Given the description of an element on the screen output the (x, y) to click on. 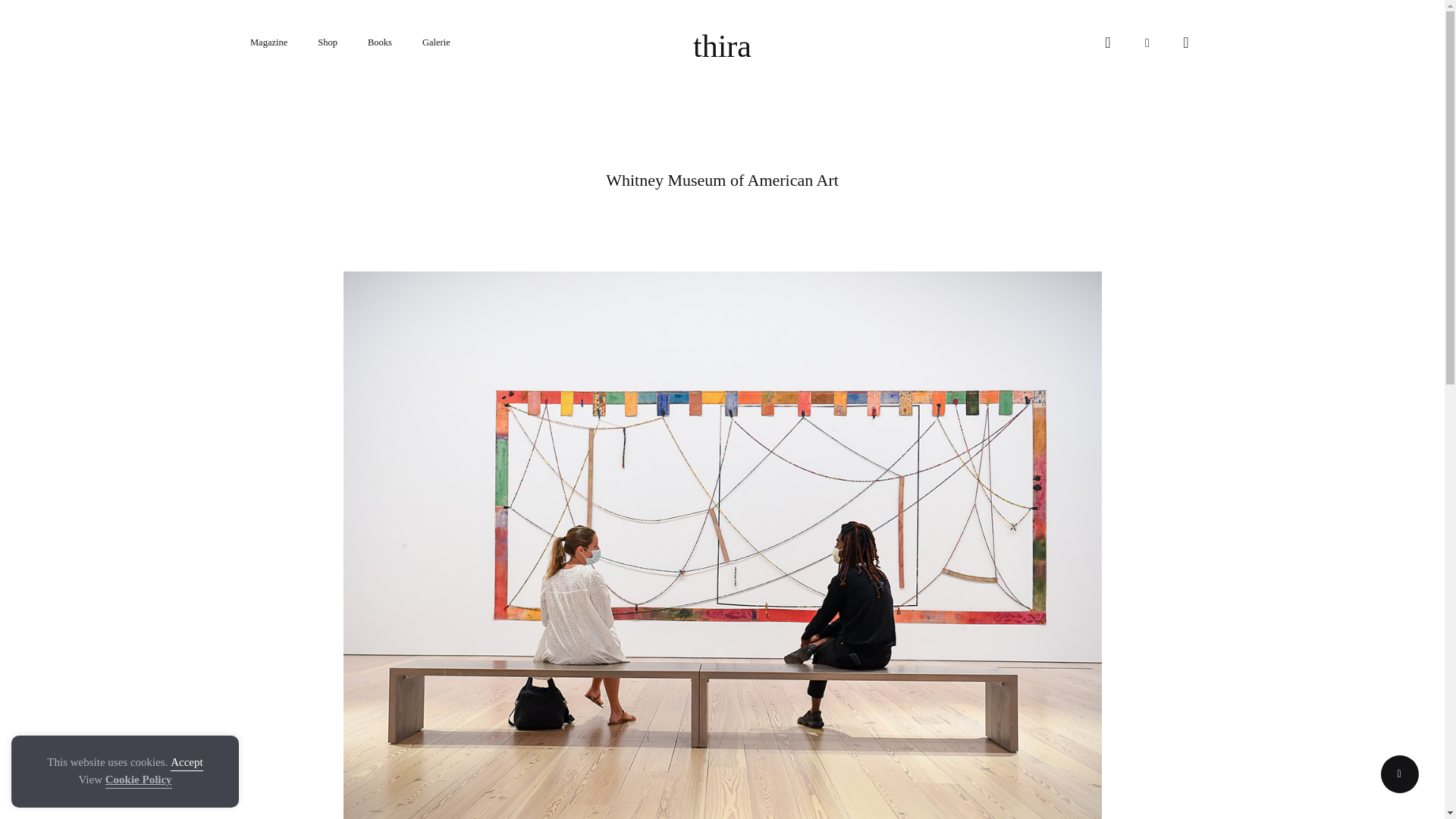
Galerie (435, 42)
Books (379, 42)
Contact (616, 653)
Shop (327, 42)
search (1107, 42)
Careers (721, 653)
Terms (990, 653)
account (1147, 42)
Sign Up (707, 586)
About (669, 653)
Privacy Policy (925, 653)
Magazine (268, 42)
Instagram (461, 653)
Account (521, 653)
thira (722, 45)
